Given the description of an element on the screen output the (x, y) to click on. 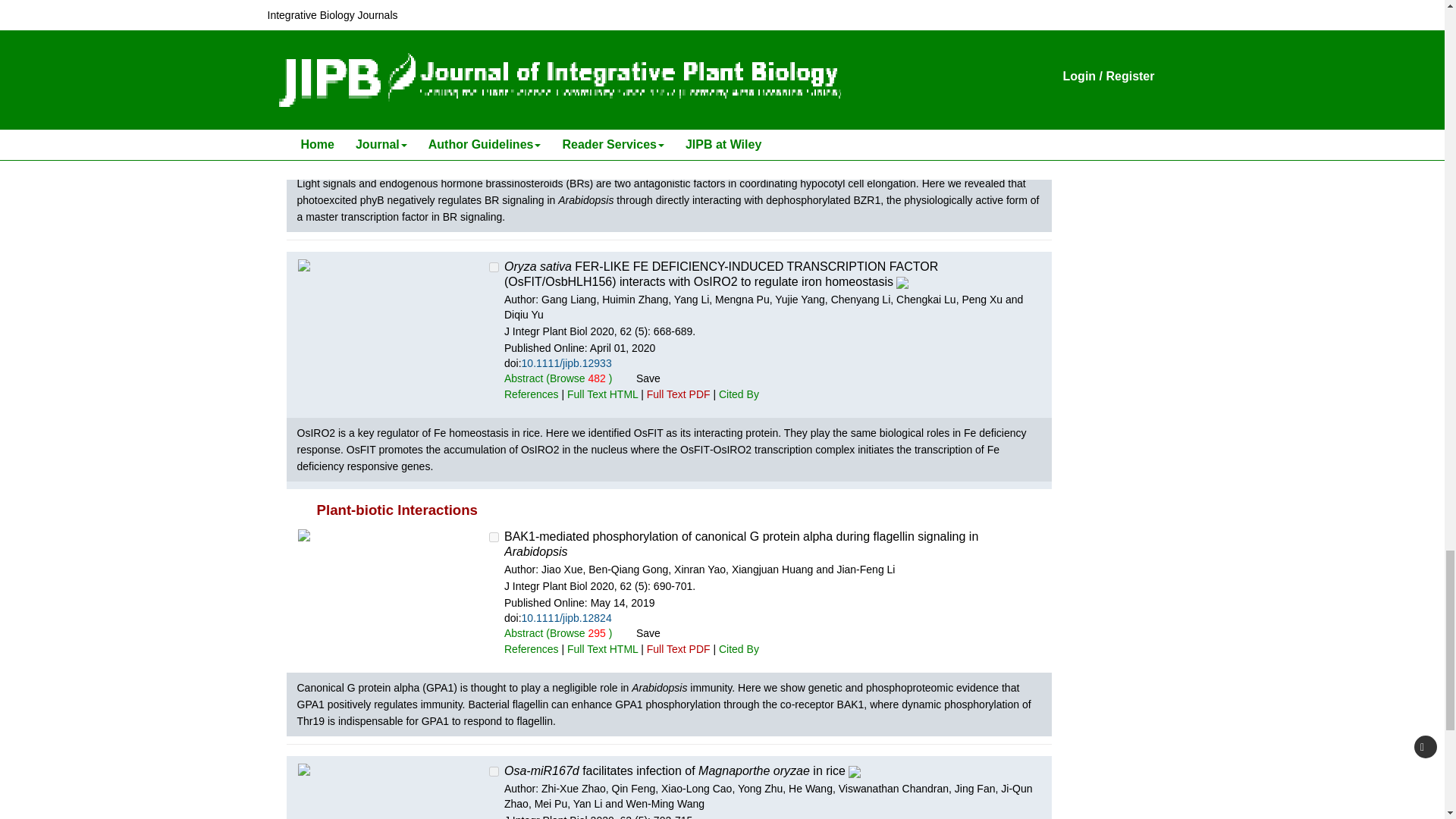
59861 (494, 771)
60549 (494, 266)
59914 (494, 32)
59927 (494, 537)
